Given the description of an element on the screen output the (x, y) to click on. 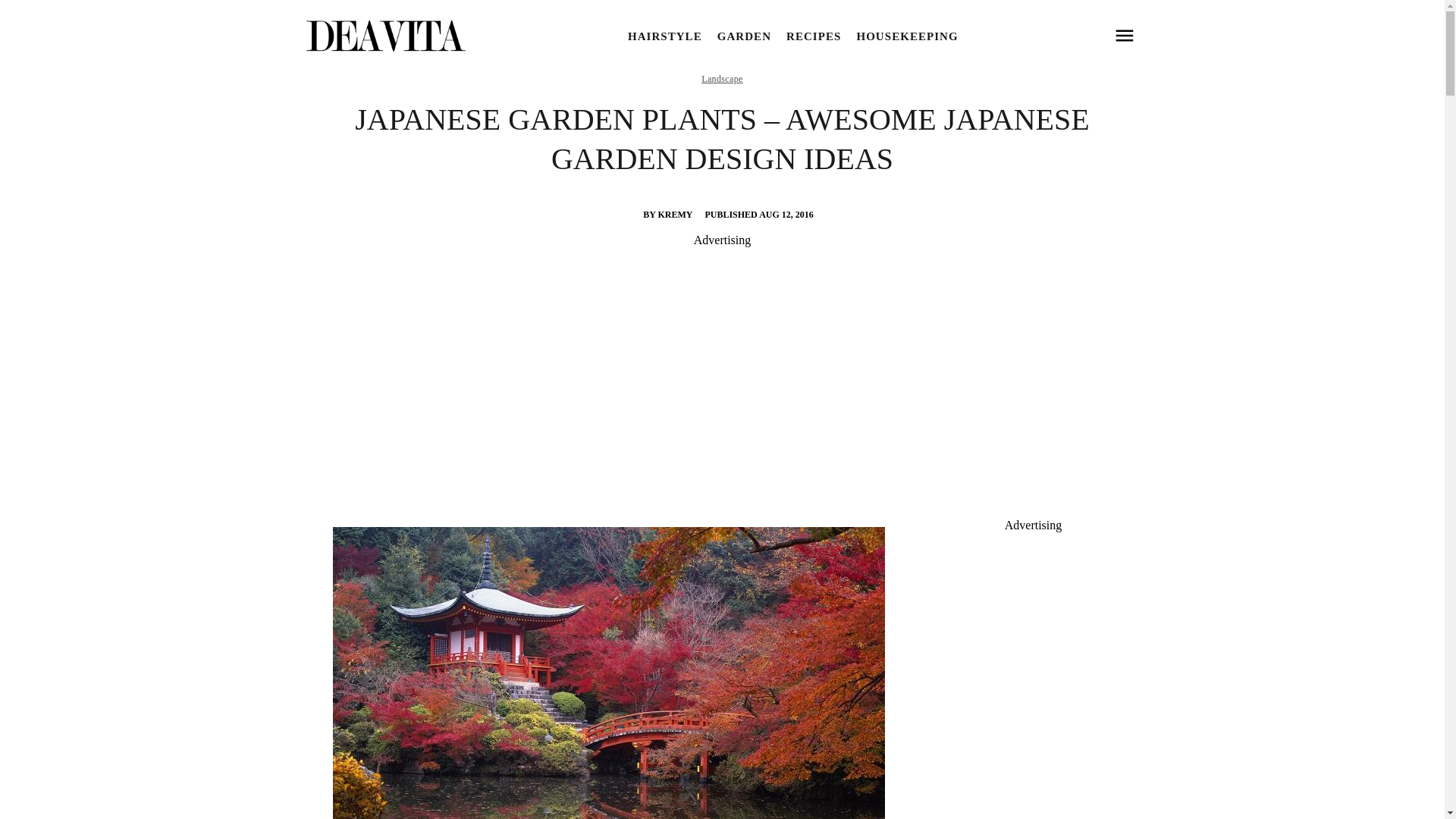
Deavita (383, 36)
GARDEN (744, 36)
RECIPES (813, 36)
HOUSEKEEPING (907, 36)
open menu (1124, 36)
HAIRSTYLE (664, 36)
